Given the description of an element on the screen output the (x, y) to click on. 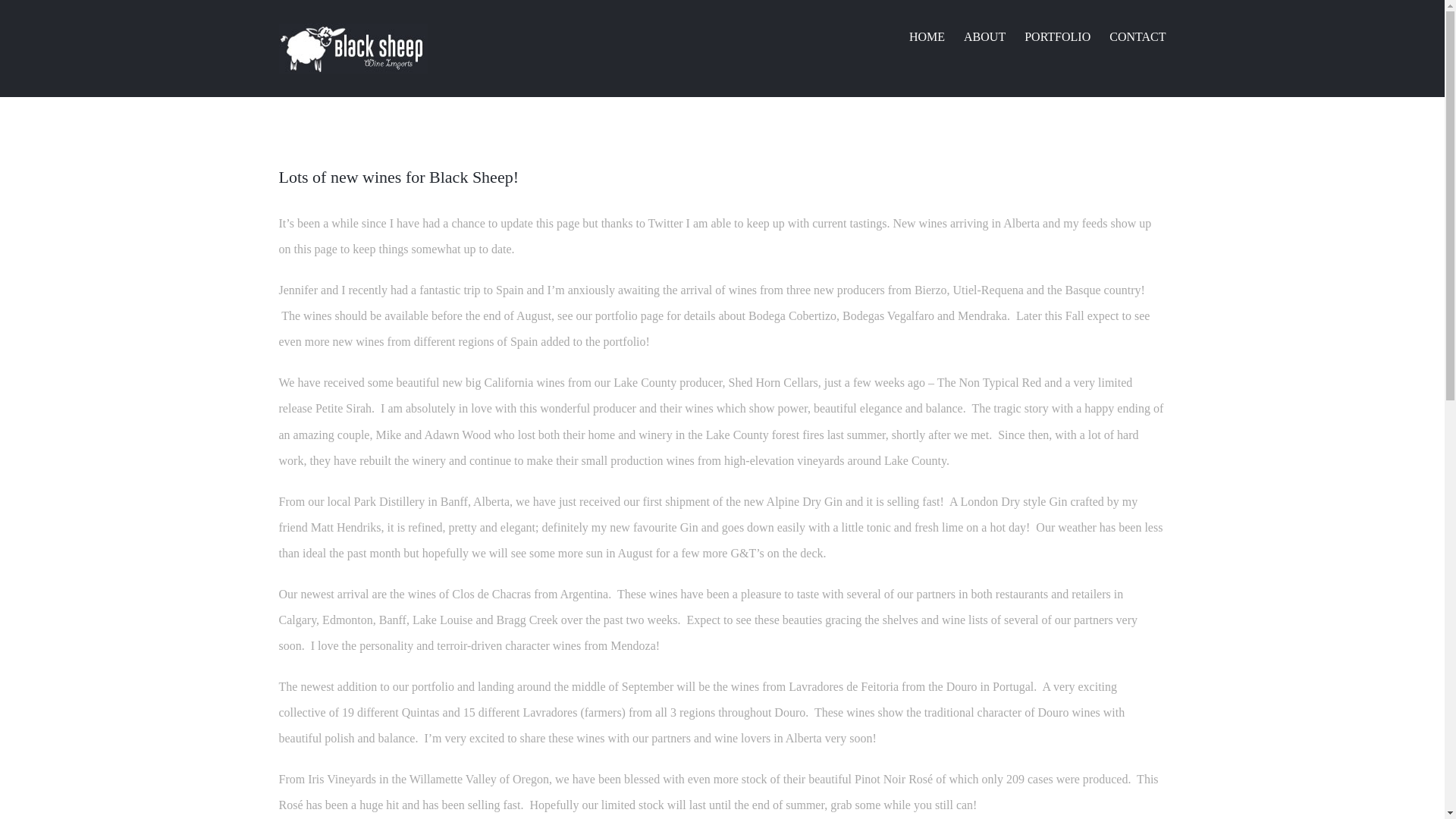
ABOUT Element type: text (984, 36)
HOME Element type: text (926, 36)
CONTACT Element type: text (1137, 36)
PORTFOLIO Element type: text (1057, 36)
